Given the description of an element on the screen output the (x, y) to click on. 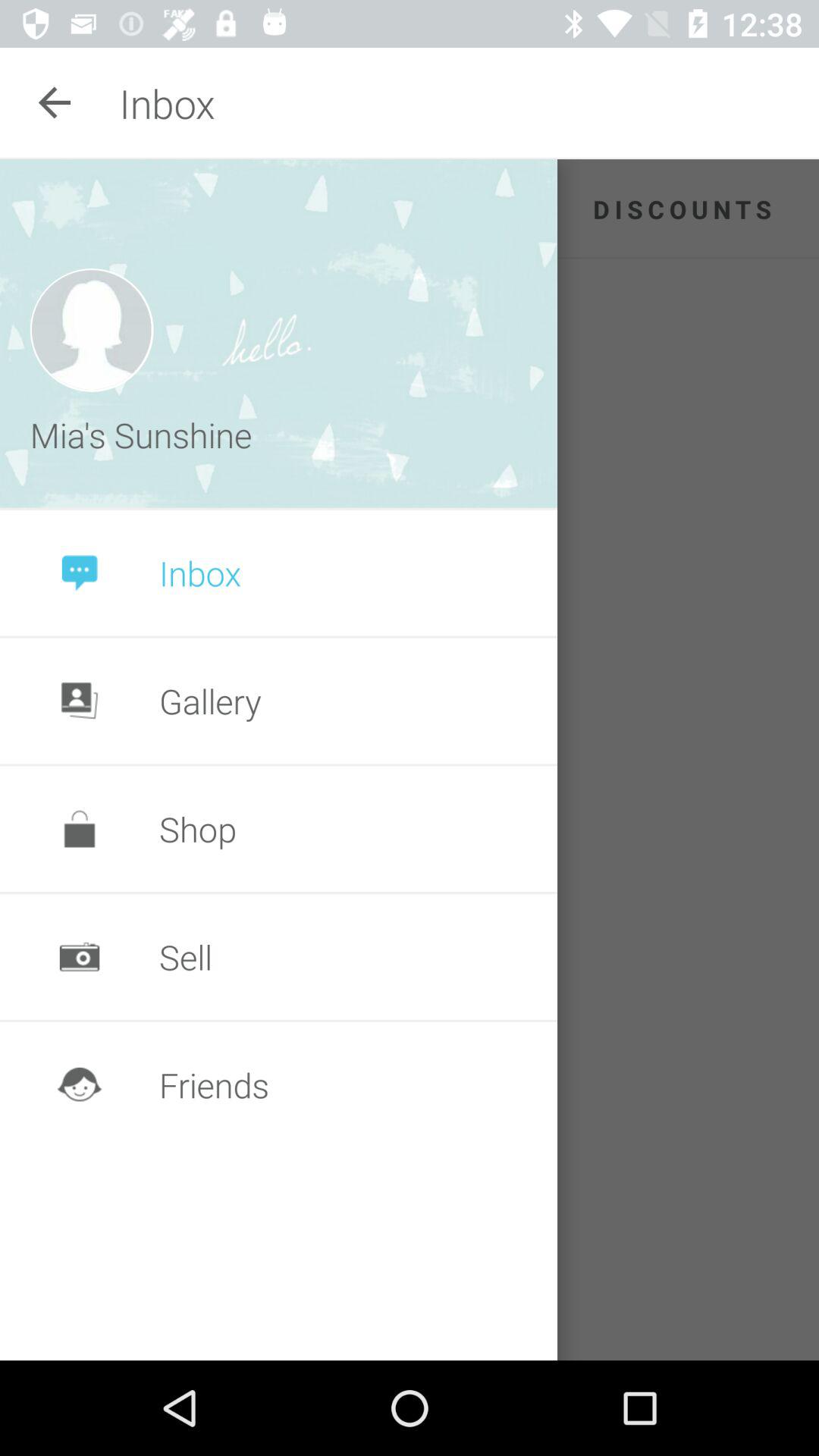
launch the friends (213, 1084)
